Given the description of an element on the screen output the (x, y) to click on. 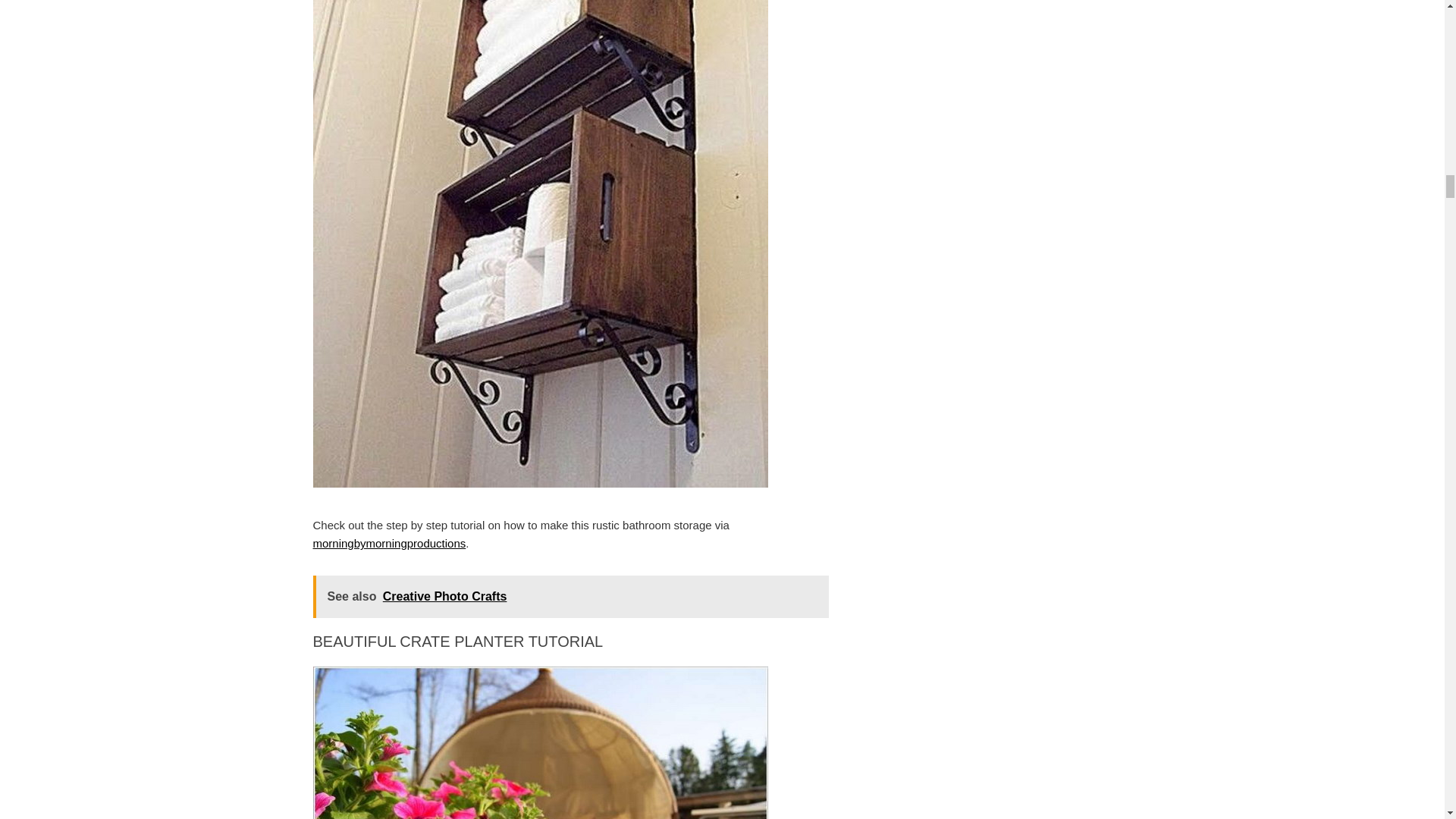
See also  Creative Photo Crafts (570, 596)
morningbymorningproductions (389, 543)
